Given the description of an element on the screen output the (x, y) to click on. 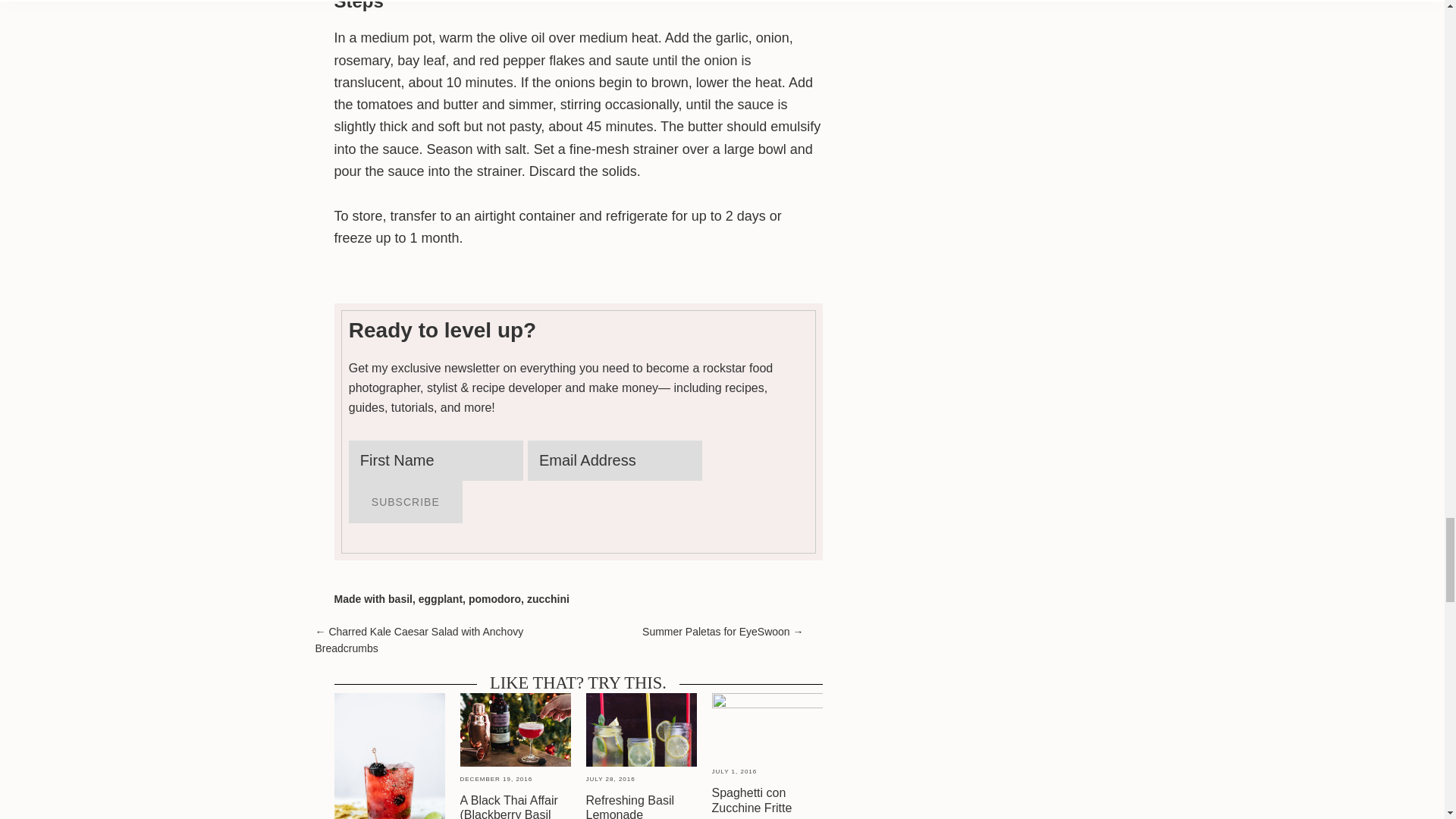
eggplant (441, 598)
basil (400, 598)
zucchini (548, 598)
Subscribe (406, 501)
Subscribe (406, 501)
pomodoro (494, 598)
